Given the description of an element on the screen output the (x, y) to click on. 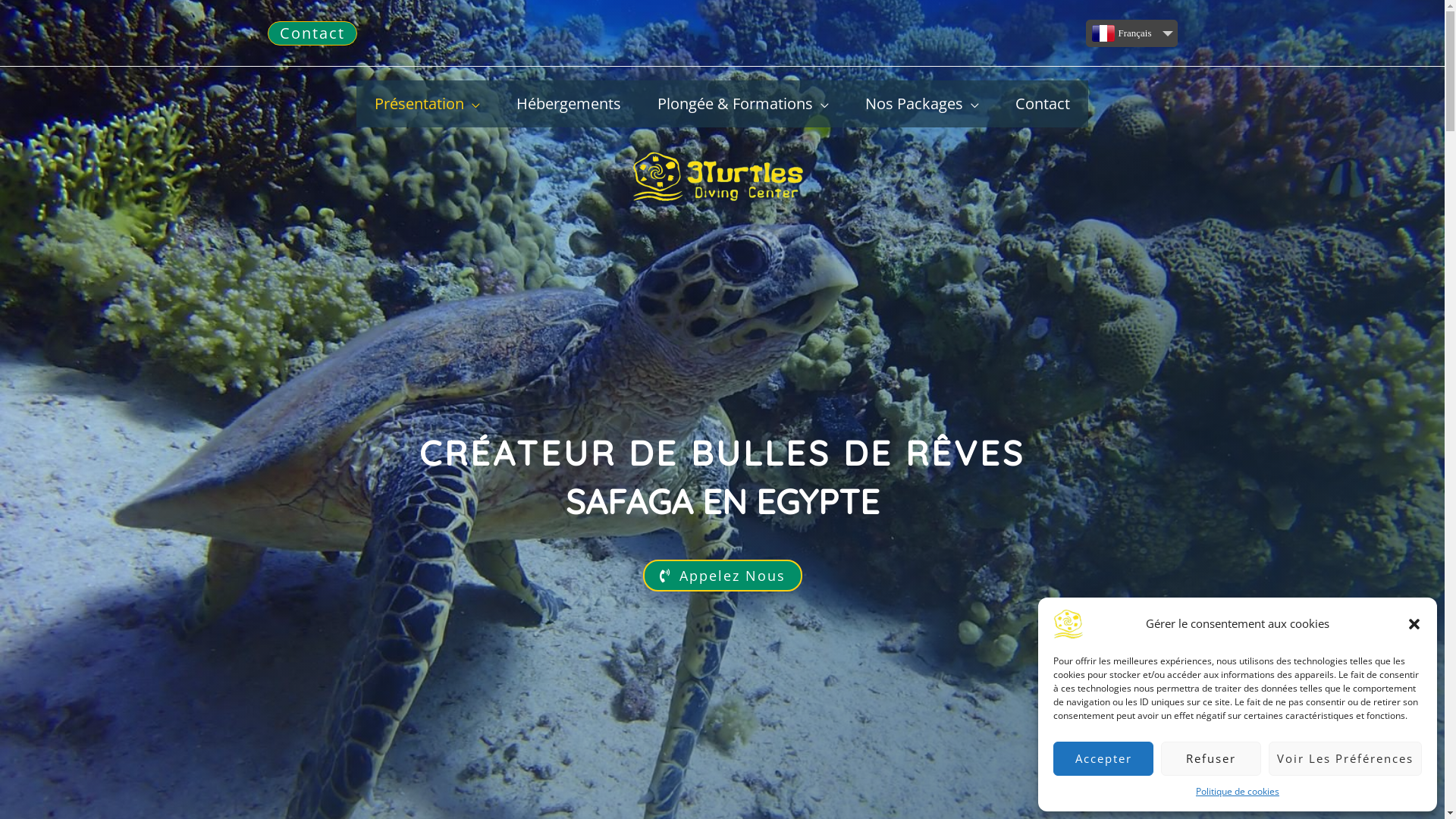
Accepter Element type: text (1103, 758)
Appelez Nous Element type: text (722, 575)
Contact Element type: text (1042, 103)
Politique de cookies Element type: text (1237, 791)
Refuser Element type: text (1211, 758)
Nos Packages Element type: text (922, 103)
Contact Element type: text (311, 33)
